Given the description of an element on the screen output the (x, y) to click on. 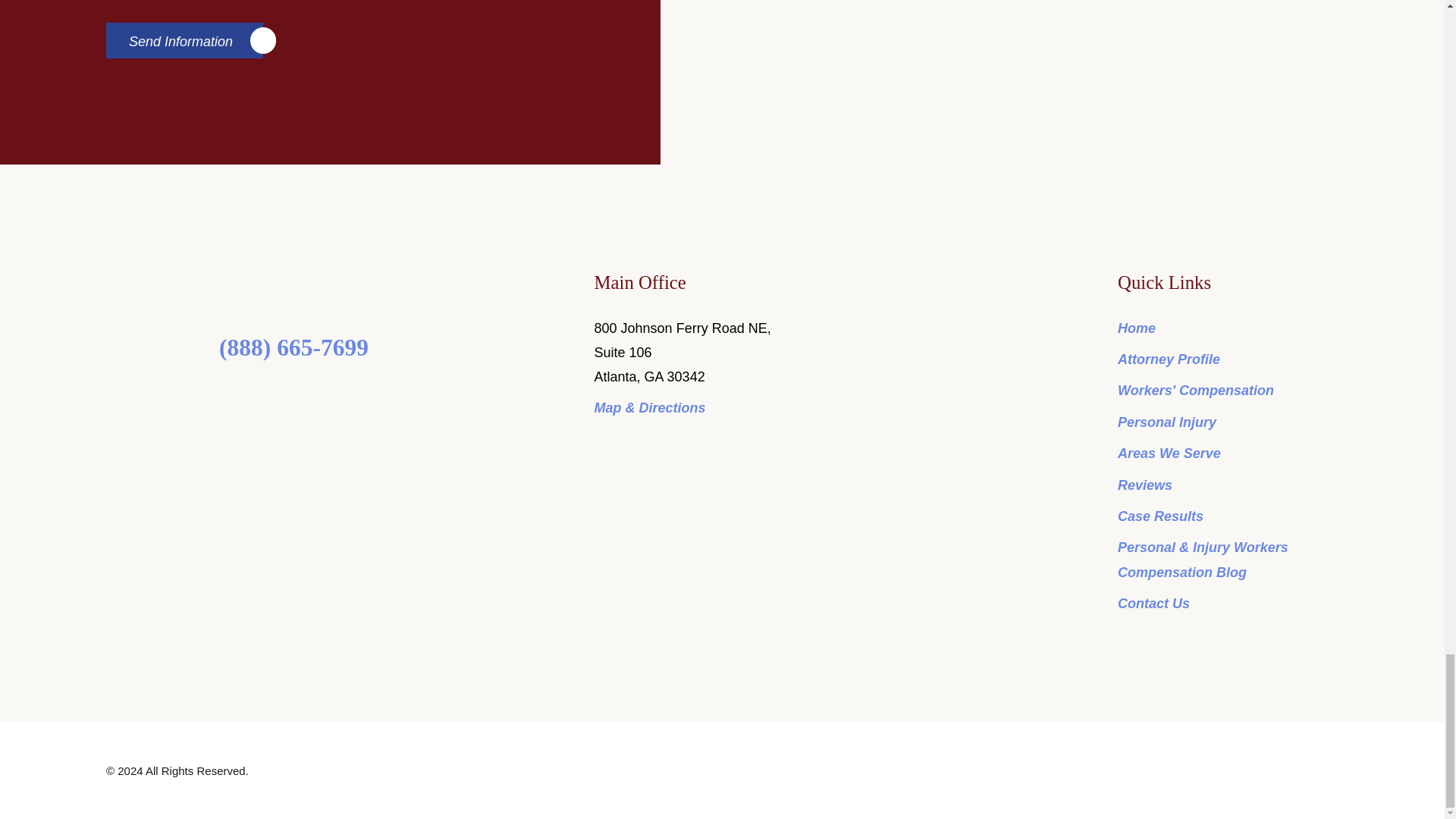
Twitter (278, 396)
LinkedIn (309, 396)
Google Business Profile (339, 396)
Facebook (248, 396)
